Given the description of an element on the screen output the (x, y) to click on. 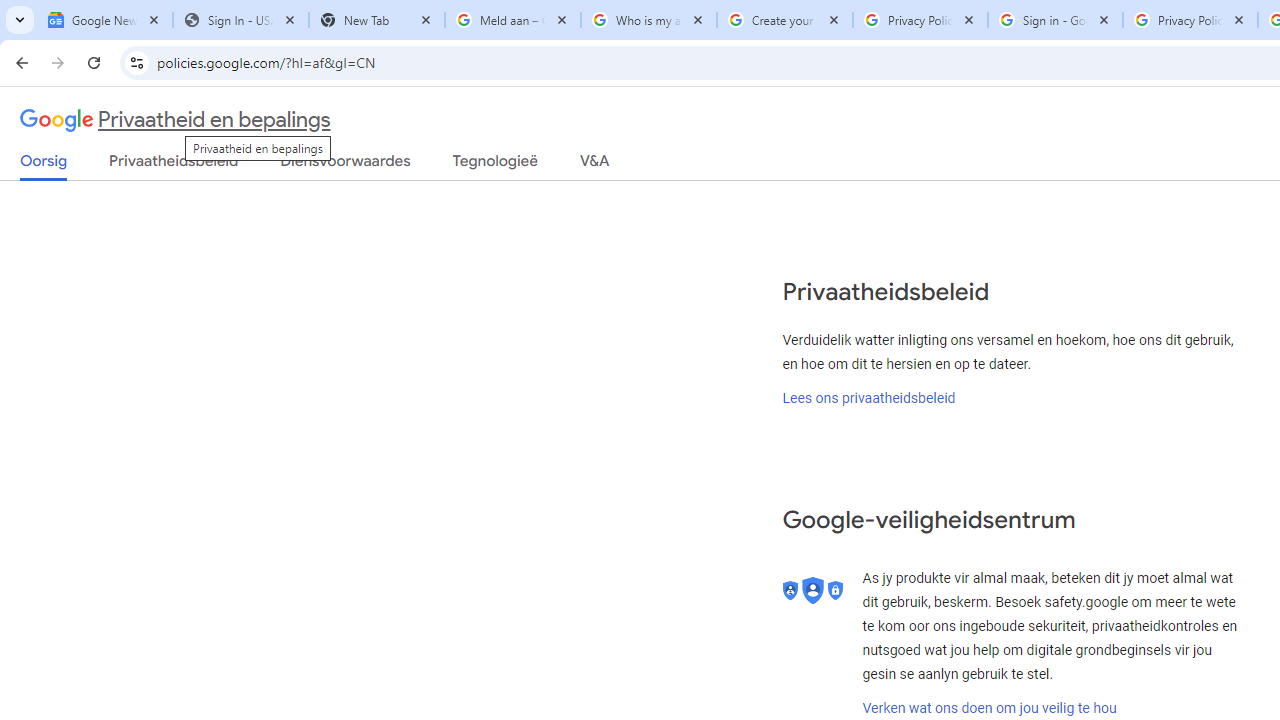
Sign In - USA TODAY (240, 20)
Verken wat ons doen om jou veilig te hou (989, 708)
Privaatheidsbeleid (173, 165)
New Tab (376, 20)
